Given the description of an element on the screen output the (x, y) to click on. 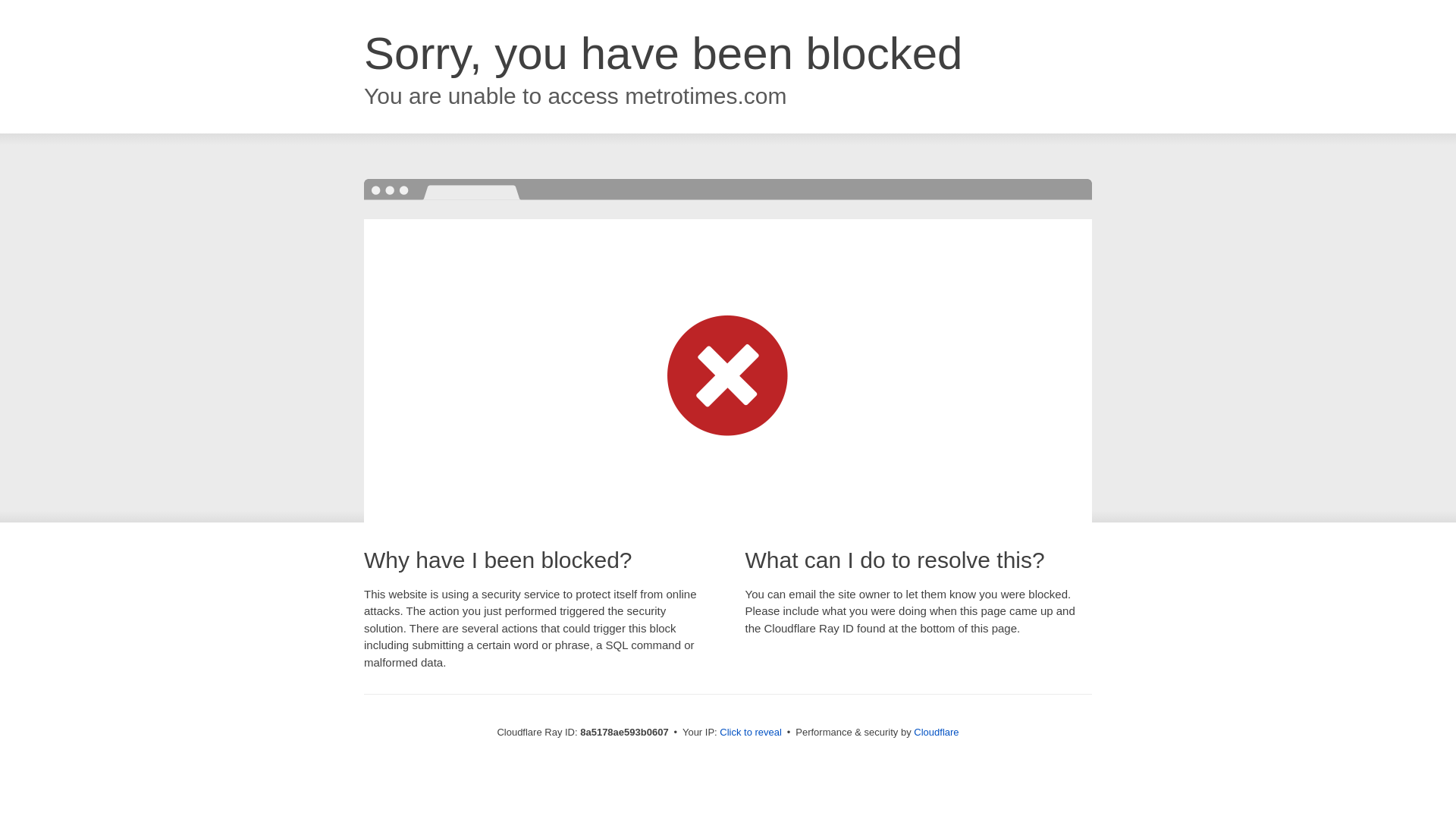
Click to reveal (750, 732)
Cloudflare (936, 731)
